Given the description of an element on the screen output the (x, y) to click on. 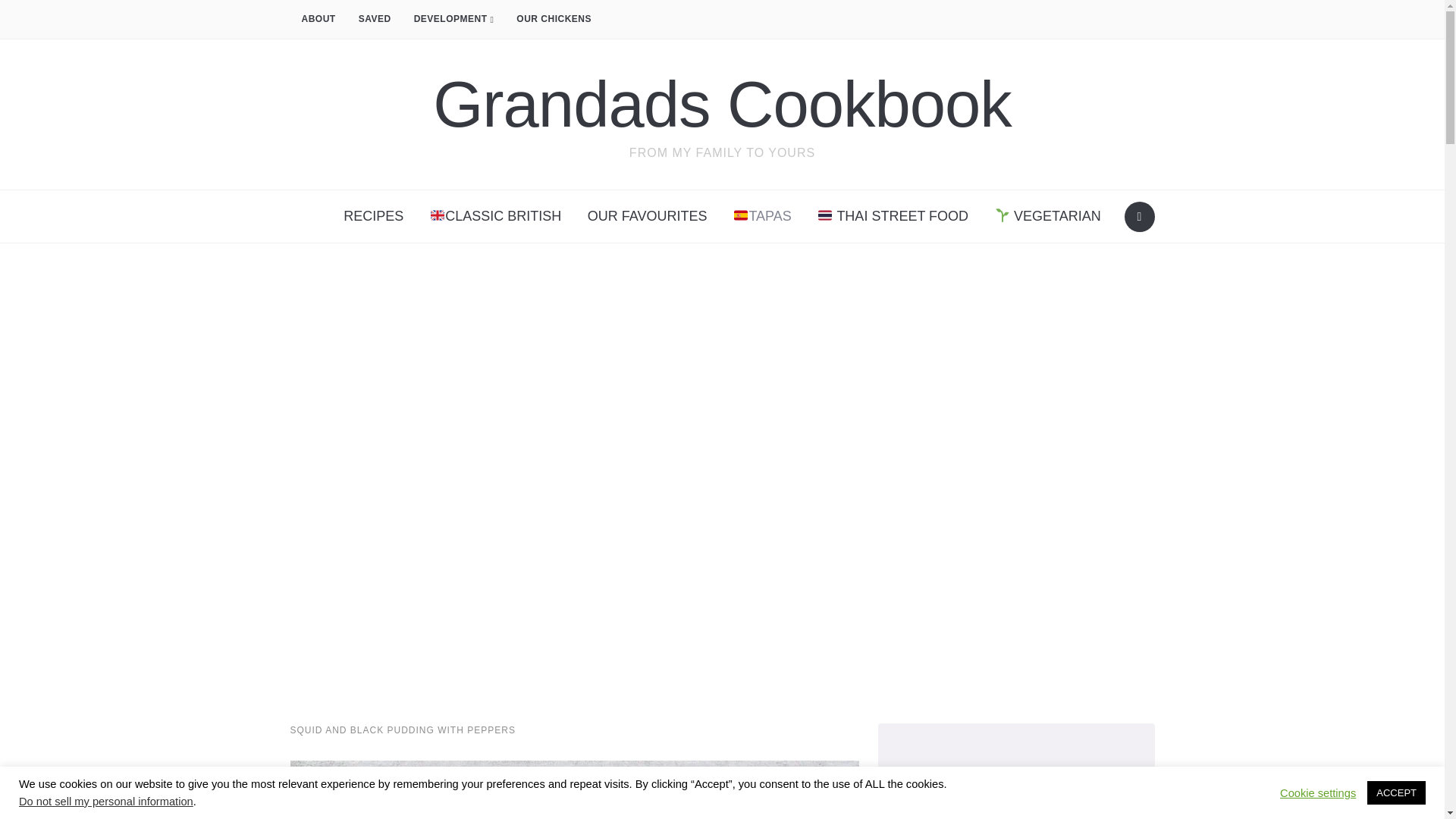
OUR CHICKENS (553, 19)
SAVED (375, 19)
From my family to yours (721, 103)
ABOUT (317, 19)
Grandads Cookbook (721, 103)
DEVELOPMENT (454, 19)
Search (1139, 216)
